Given the description of an element on the screen output the (x, y) to click on. 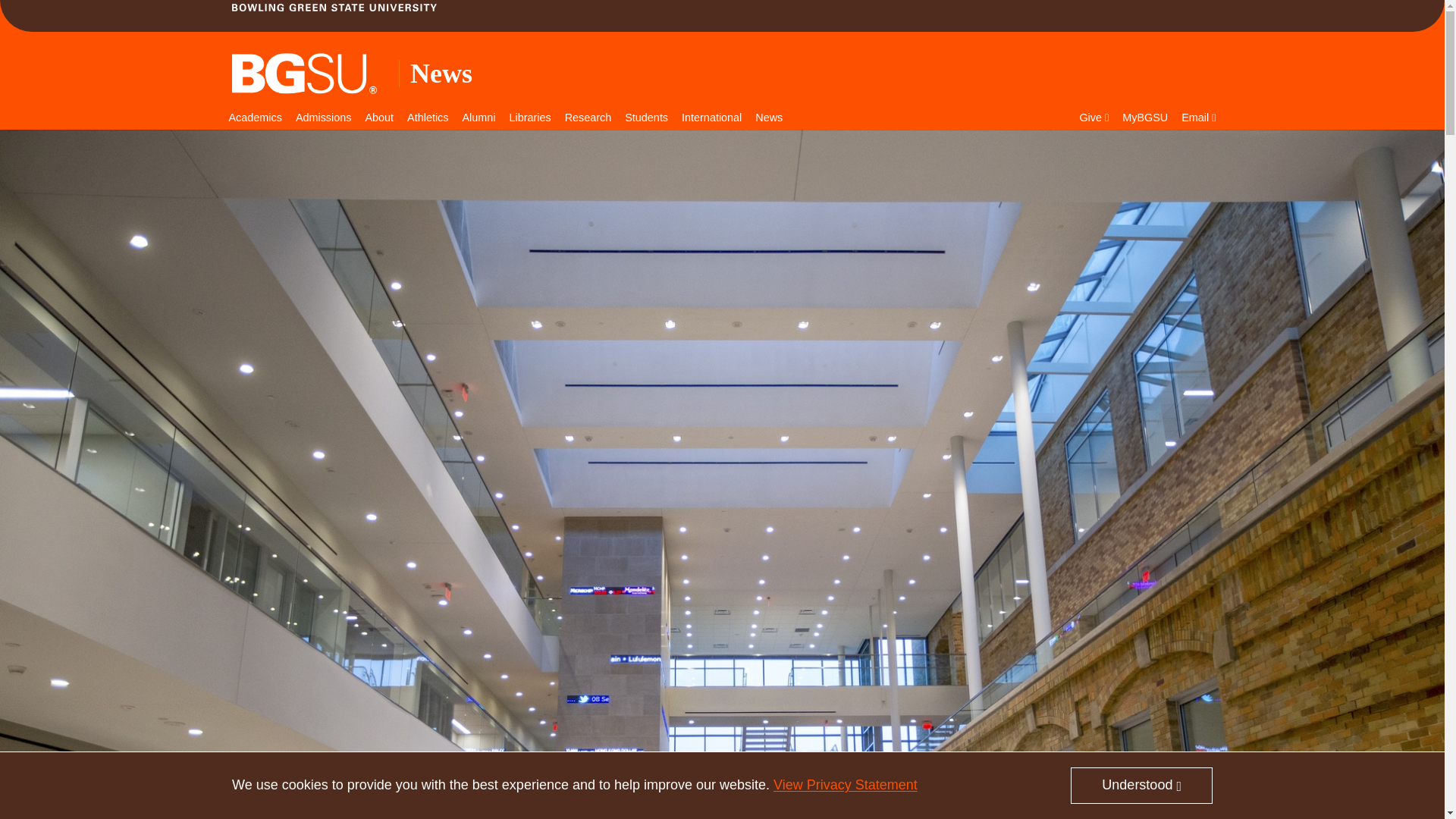
News (440, 73)
Understood  (1141, 785)
View Privacy Statement (845, 784)
Academics (254, 117)
